Given the description of an element on the screen output the (x, y) to click on. 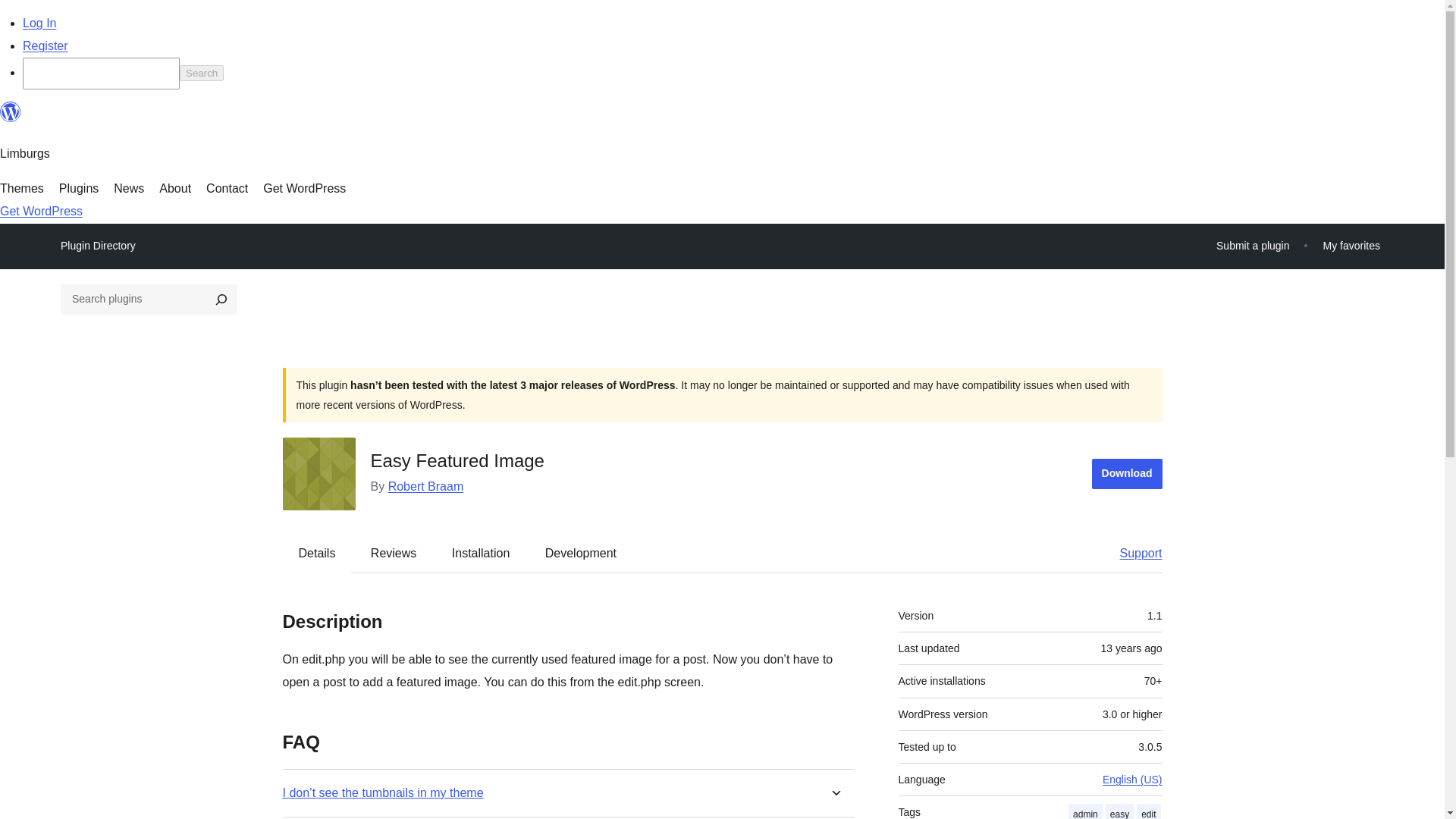
Submit a plugin (1253, 246)
Get WordPress (41, 210)
Robert Braam (426, 486)
Contact (226, 188)
About (174, 188)
Themes (21, 188)
News (128, 188)
Register (45, 45)
Development (580, 552)
WordPress.org (10, 111)
Get WordPress (304, 188)
Plugins (79, 188)
Details (316, 552)
Log In (39, 22)
